Given the description of an element on the screen output the (x, y) to click on. 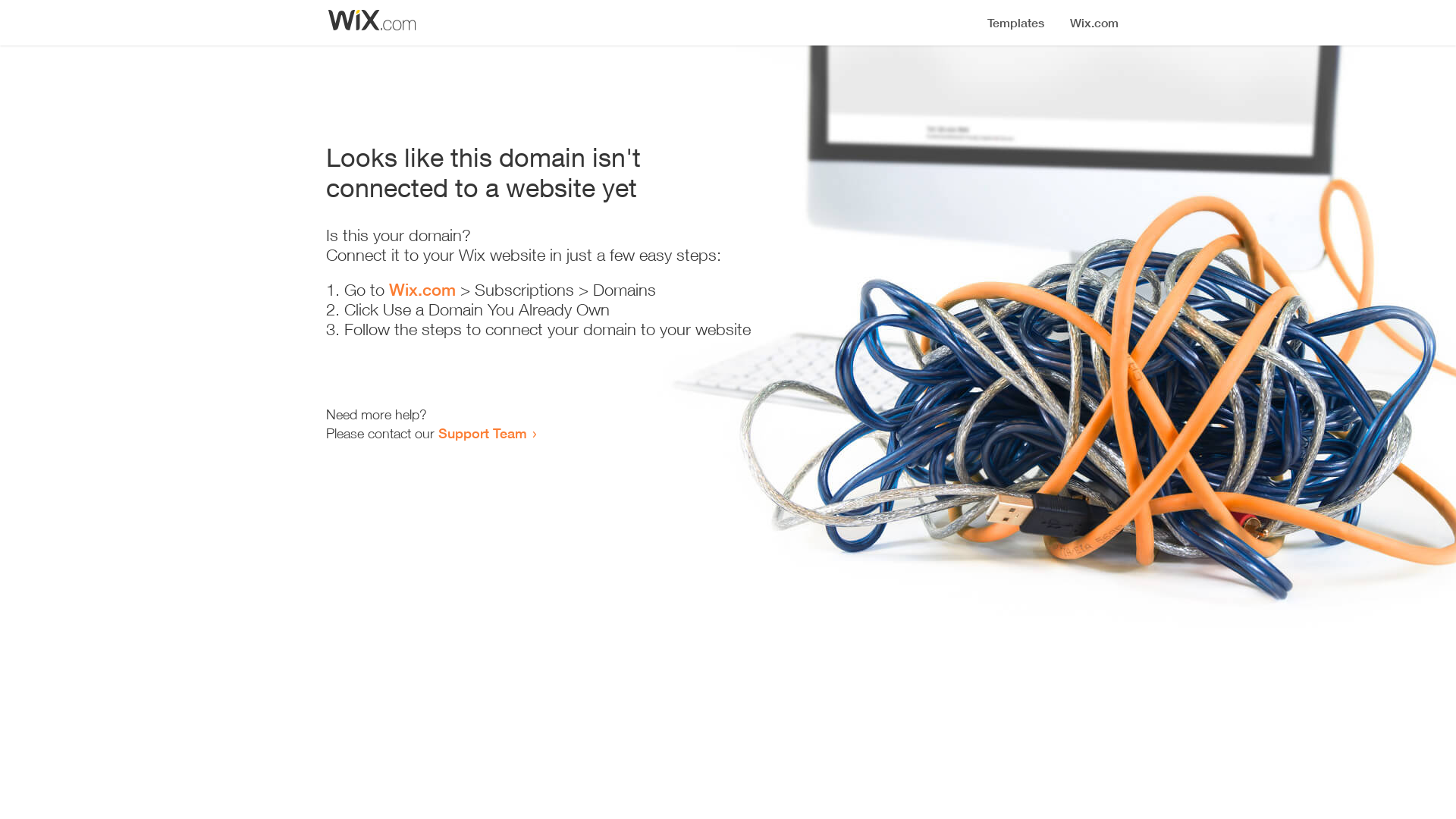
Wix.com Element type: text (422, 289)
Support Team Element type: text (482, 432)
